Given the description of an element on the screen output the (x, y) to click on. 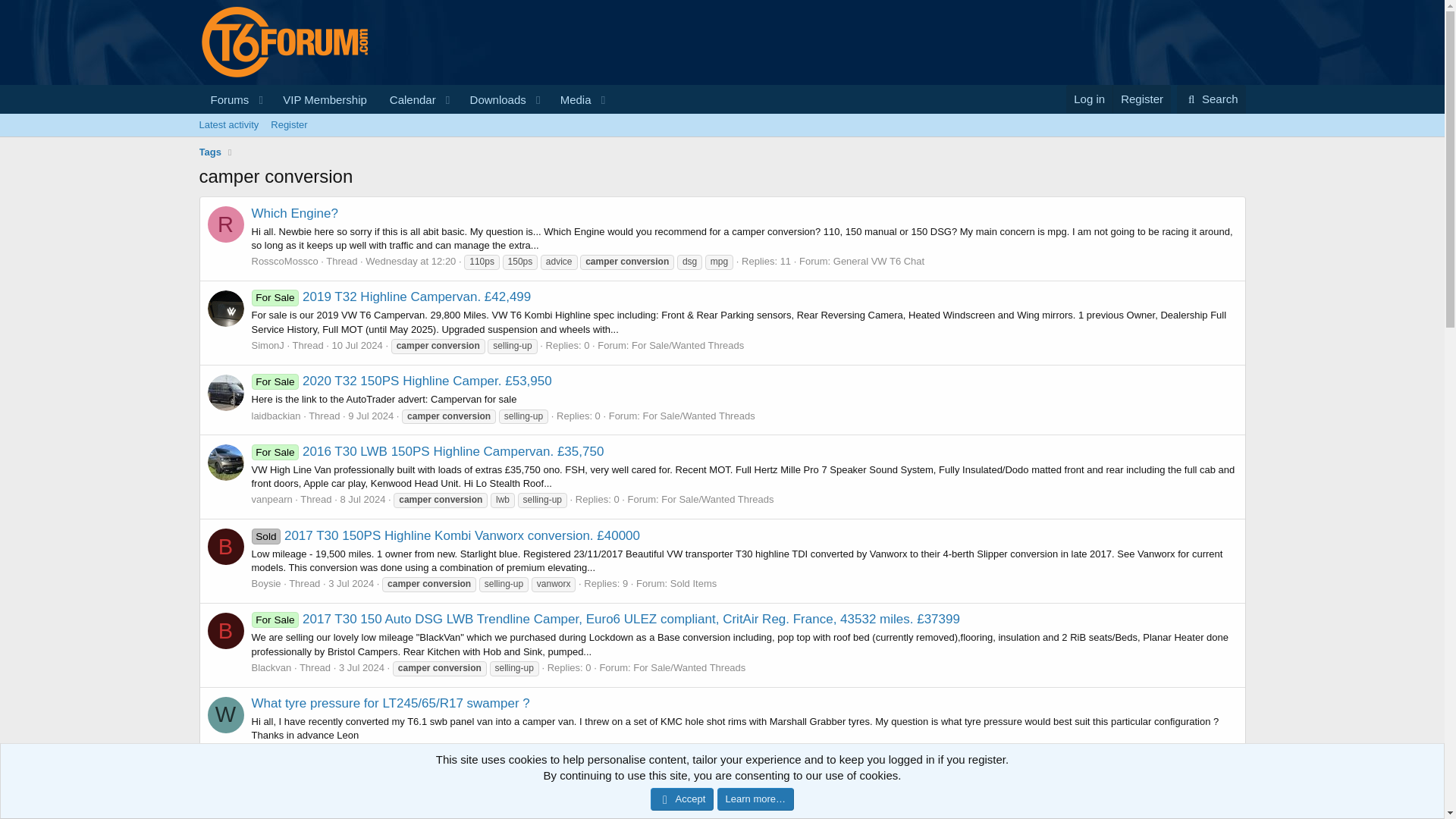
9 Jul 2024 at 08:42 (370, 415)
Register (1141, 99)
10 Jul 2024 at 17:27 (356, 345)
2 Jul 2024 at 07:50 (352, 751)
Search (1211, 99)
Forums (224, 99)
RosscoMossco (284, 260)
Register (288, 124)
Latest activity (228, 124)
Downloads (405, 116)
3 Jul 2024 at 11:35 (492, 99)
Media (721, 141)
Search (361, 667)
